Given the description of an element on the screen output the (x, y) to click on. 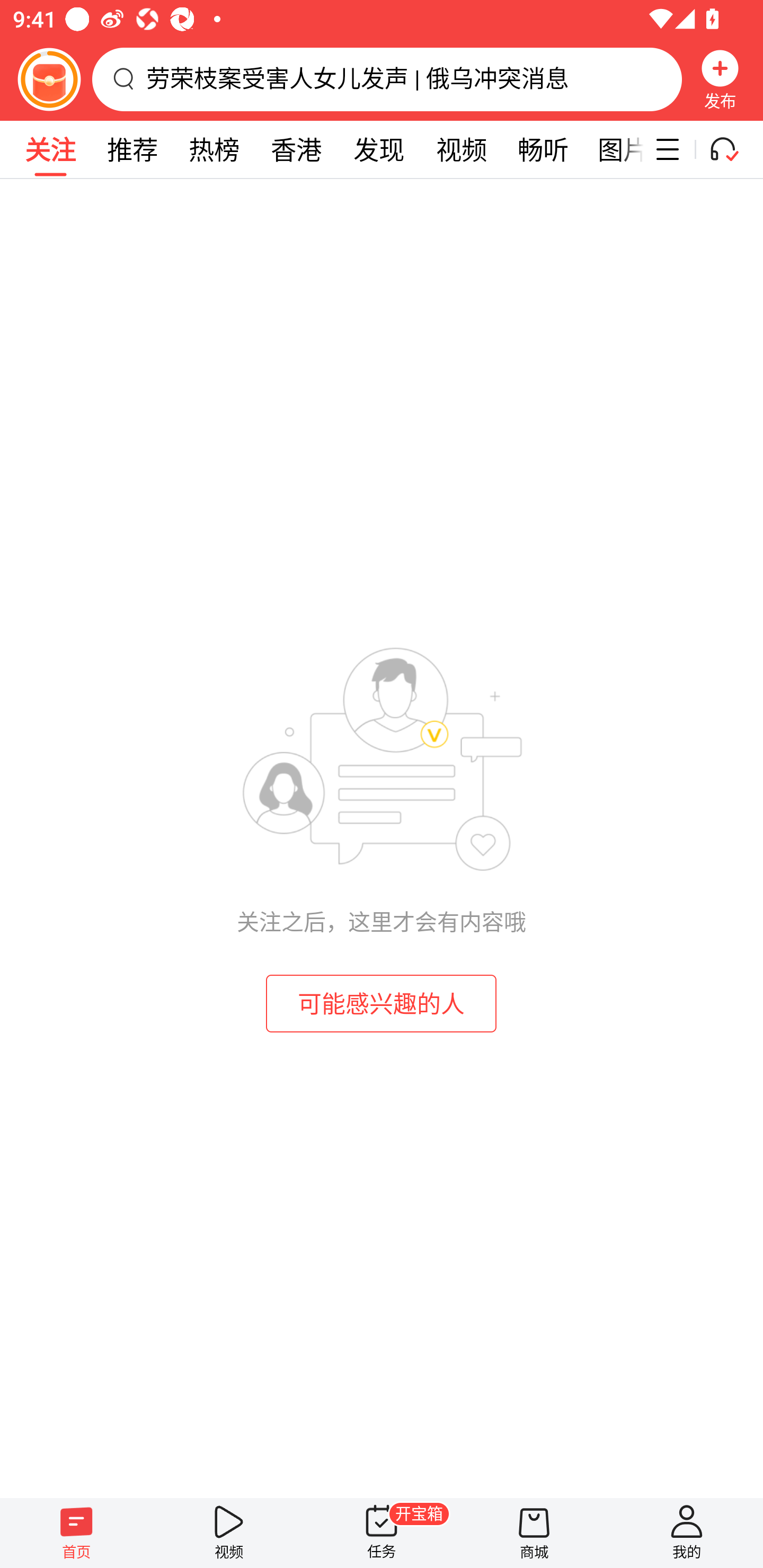
阅读赚金币 (48, 79)
劳荣枝案受害人女儿发声 | 俄乌冲突消息 搜索框，劳荣枝案受害人女儿发声 | 俄乌冲突消息 (387, 79)
发布 发布，按钮 (720, 78)
关注 (50, 149)
推荐 (132, 149)
热榜 (213, 149)
香港 (295, 149)
发现 (378, 149)
视频 (461, 149)
畅听 (542, 149)
图片 (613, 149)
听一听开关 (732, 149)
可能感兴趣的人 (381, 1003)
首页 (76, 1532)
视频 (228, 1532)
任务 开宝箱 (381, 1532)
商城 (533, 1532)
我的 (686, 1532)
